Given the description of an element on the screen output the (x, y) to click on. 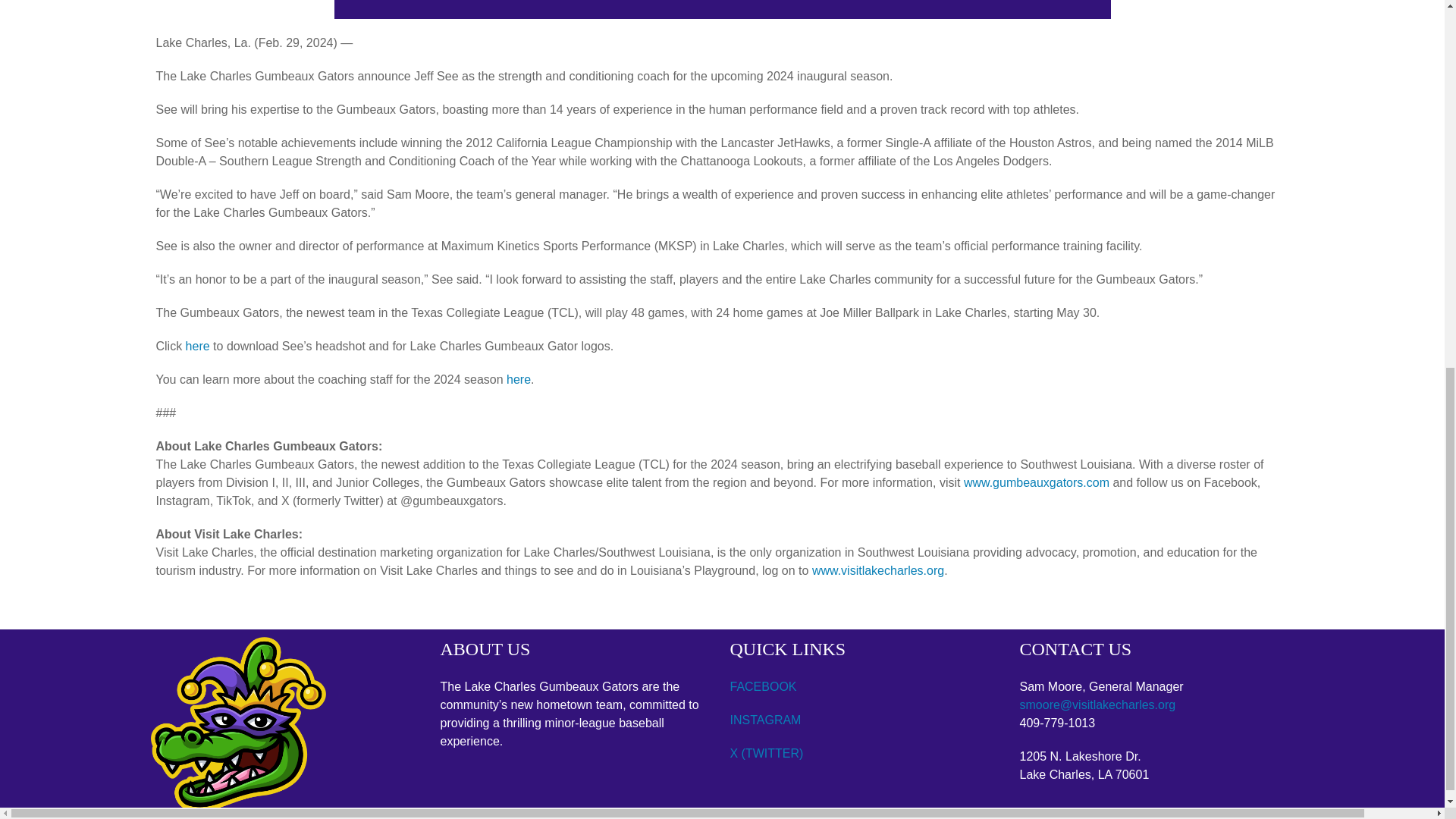
INSTAGRAM (764, 719)
FACEBOOK (762, 686)
here (197, 345)
here (518, 379)
www.gumbeauxgators.com (1036, 481)
www.visitlakecharles.org (877, 570)
